Given the description of an element on the screen output the (x, y) to click on. 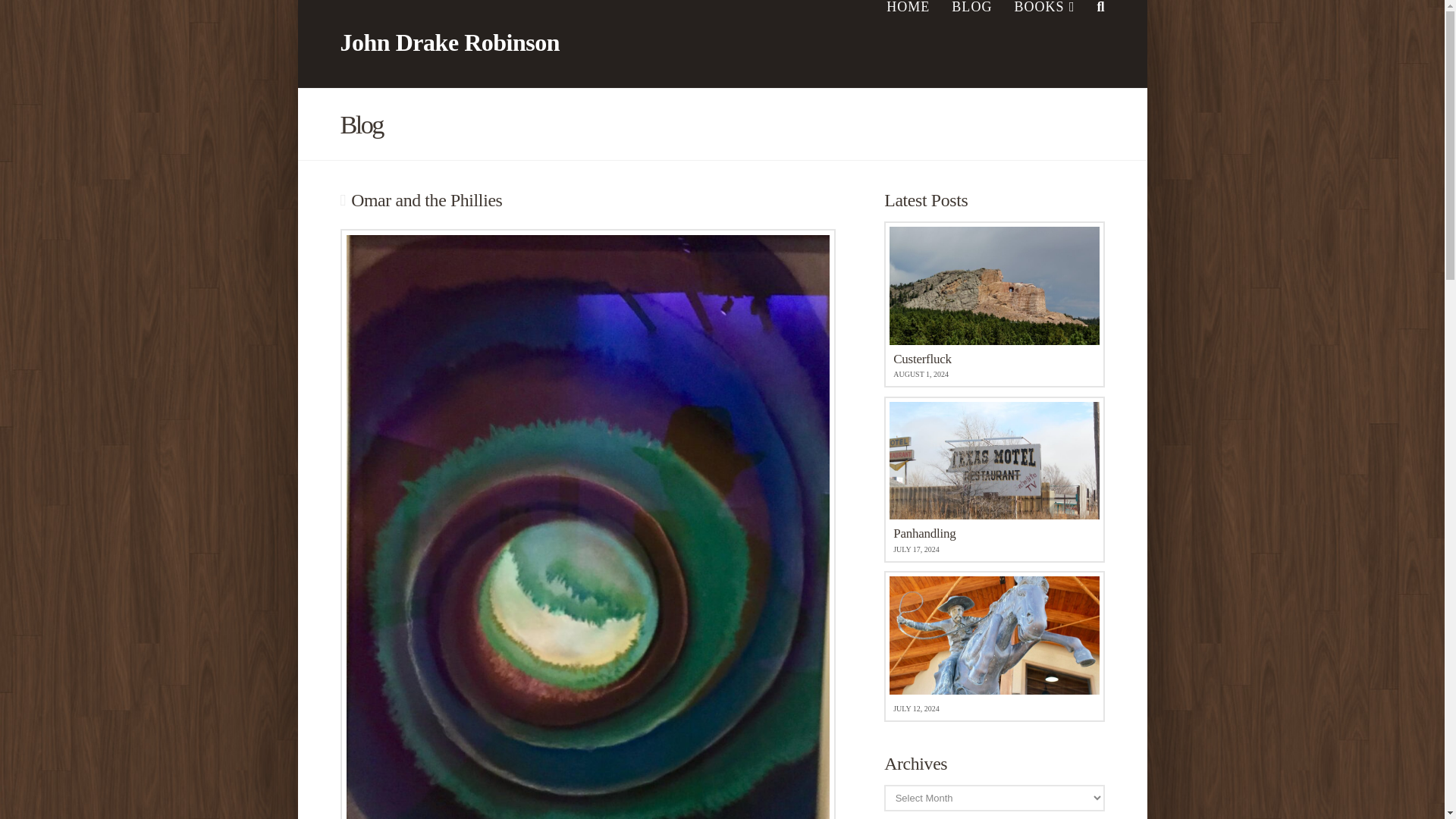
John Drake Robinson (449, 42)
Permalink to: "Panhandling" (993, 479)
Permalink to: "Custerfluck" (993, 304)
Permalink to: "" (993, 479)
BOOKS (993, 304)
JULY 12, 2024 (993, 645)
